Given the description of an element on the screen output the (x, y) to click on. 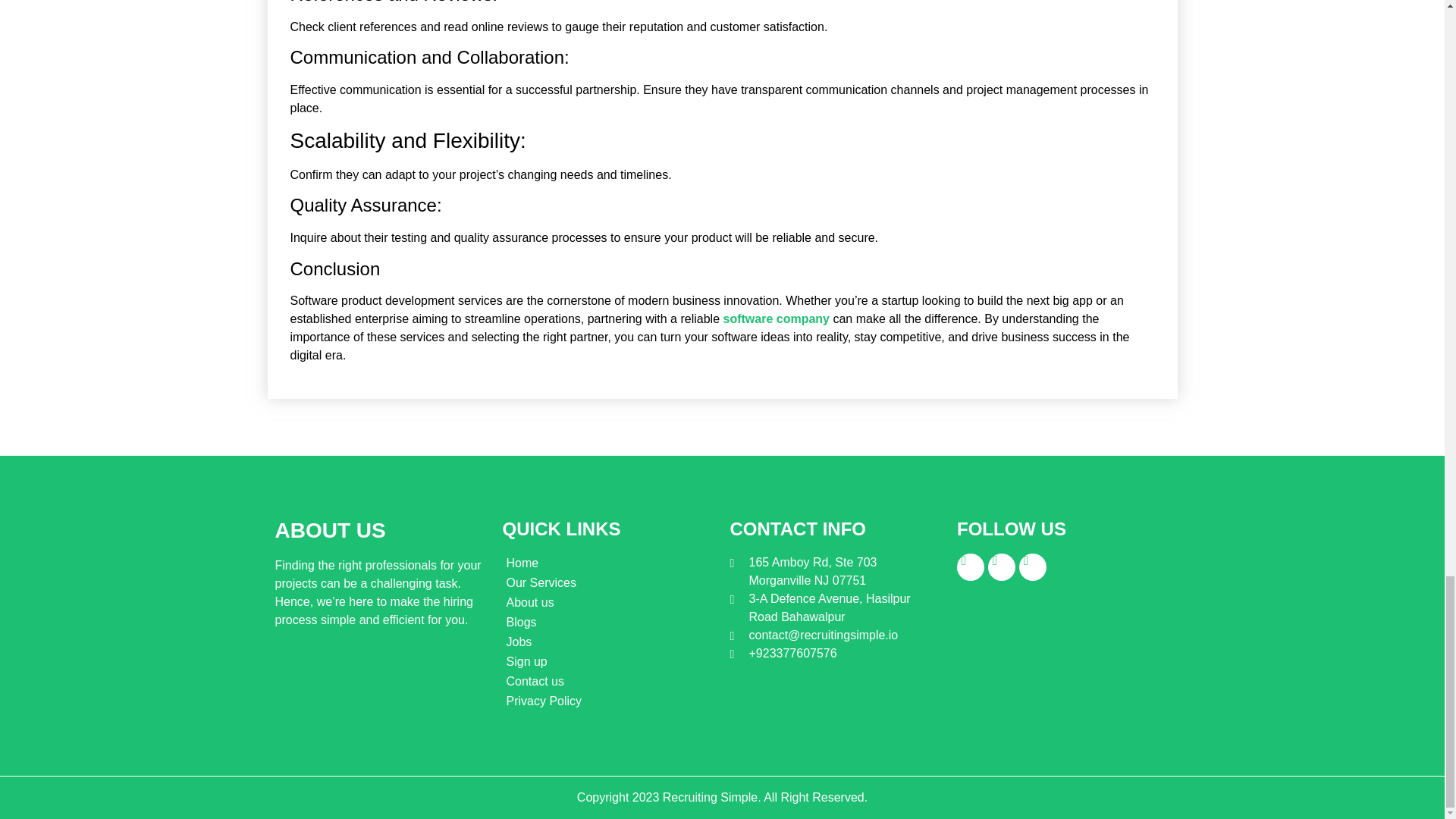
Sign up (608, 661)
About us (608, 602)
165 Amboy Rd, Ste 703 Morganville NJ 07751 (834, 571)
Blogs (608, 622)
Home (608, 563)
Contact us (608, 681)
software company (775, 318)
Privacy Policy (608, 701)
Jobs (608, 641)
Our Services (608, 582)
